Given the description of an element on the screen output the (x, y) to click on. 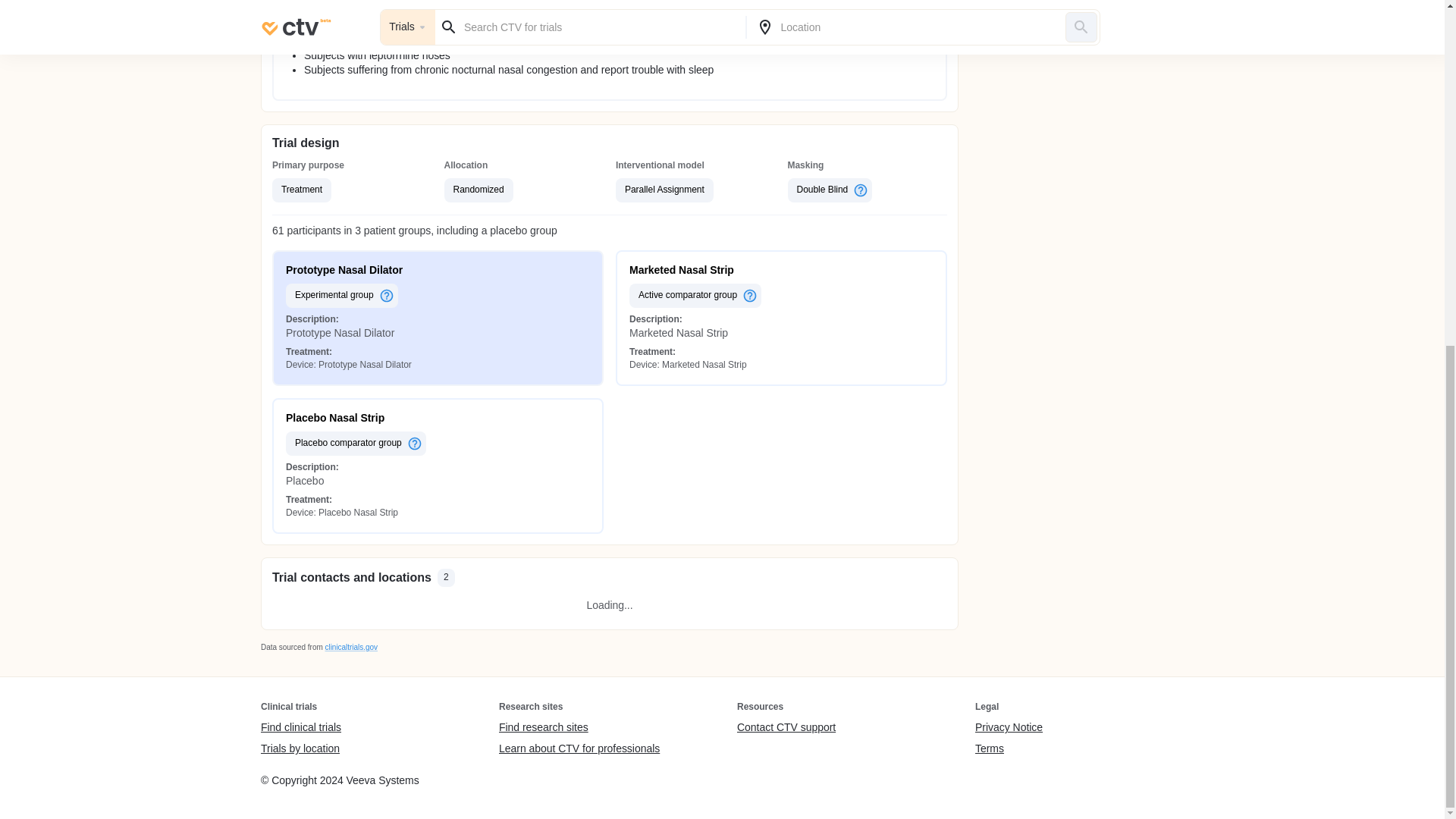
clinicaltrials.gov (350, 646)
Trials by location (300, 748)
Learn about CTV for professionals (579, 748)
Find research sites (579, 727)
Terms (1008, 748)
Privacy Notice (1008, 727)
Find clinical trials (300, 727)
Contact CTV support (785, 727)
